Given the description of an element on the screen output the (x, y) to click on. 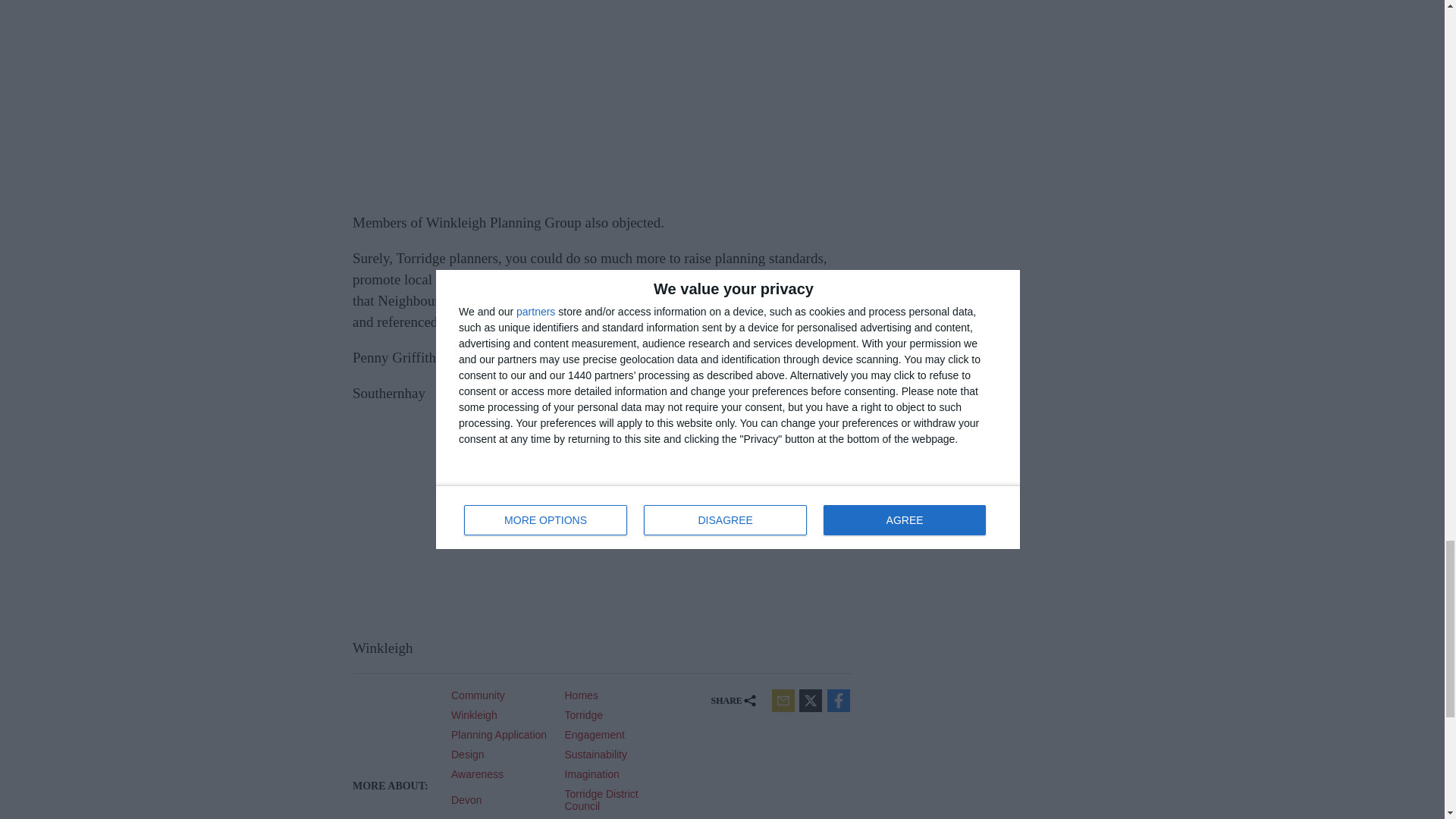
Homes (615, 695)
Community (502, 695)
Planning Application (502, 734)
Torridge (615, 715)
Winkleigh (502, 715)
